Given the description of an element on the screen output the (x, y) to click on. 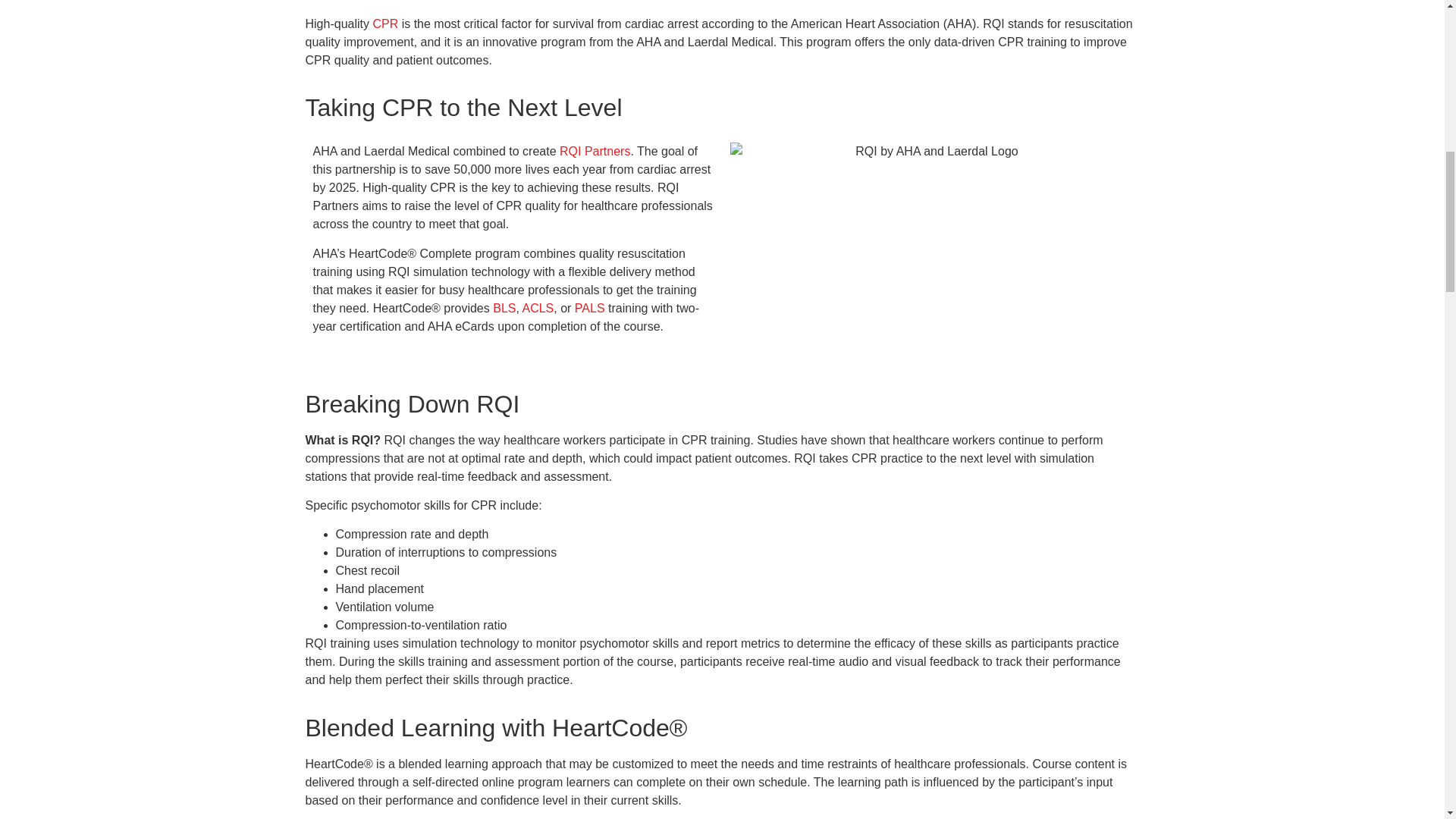
RQI Partners (594, 151)
BLS (504, 308)
PALS (590, 308)
CPR (384, 23)
RQI Partners (594, 151)
ACLS (537, 308)
